Given the description of an element on the screen output the (x, y) to click on. 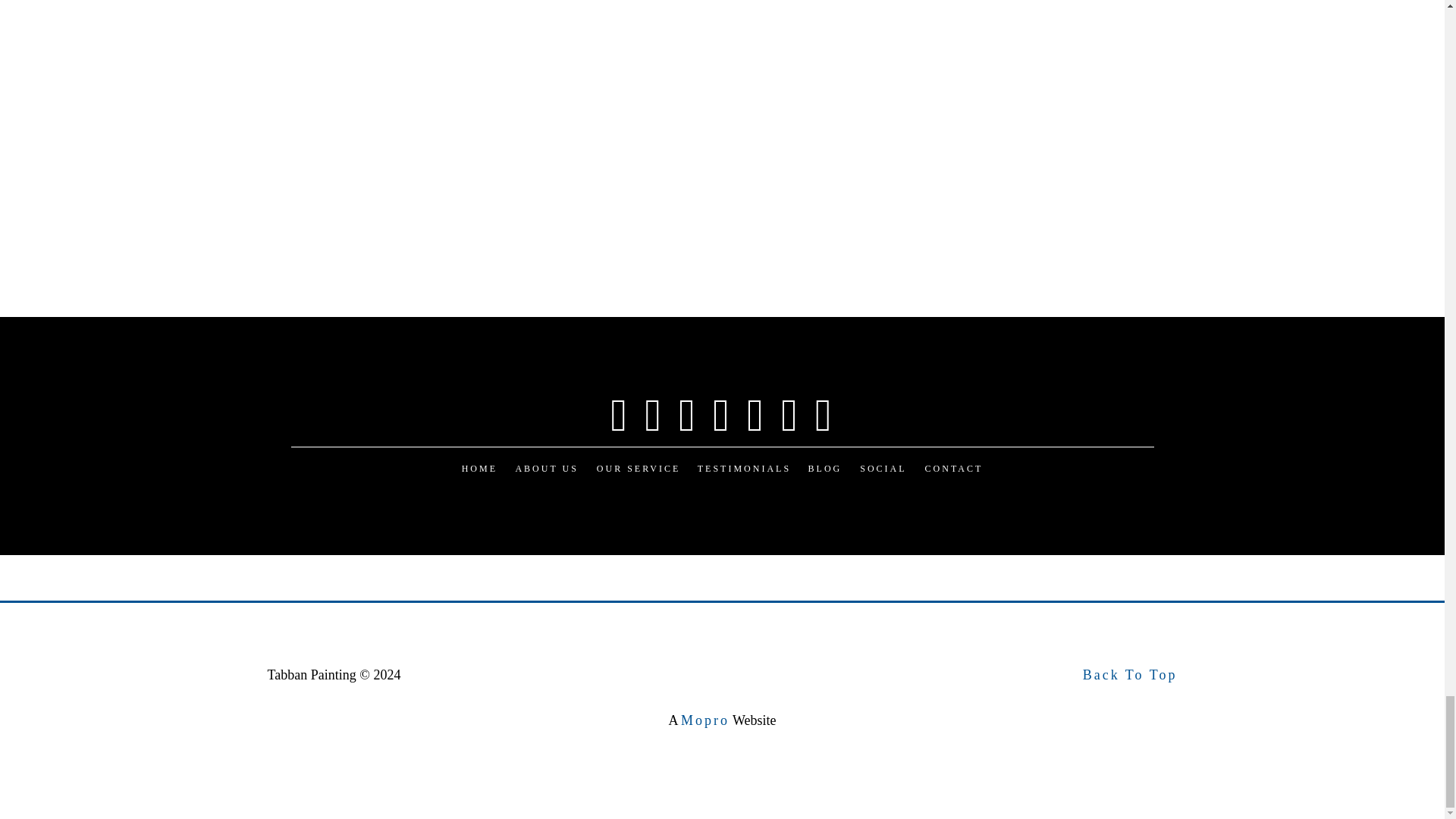
a mopro website (705, 720)
